Given the description of an element on the screen output the (x, y) to click on. 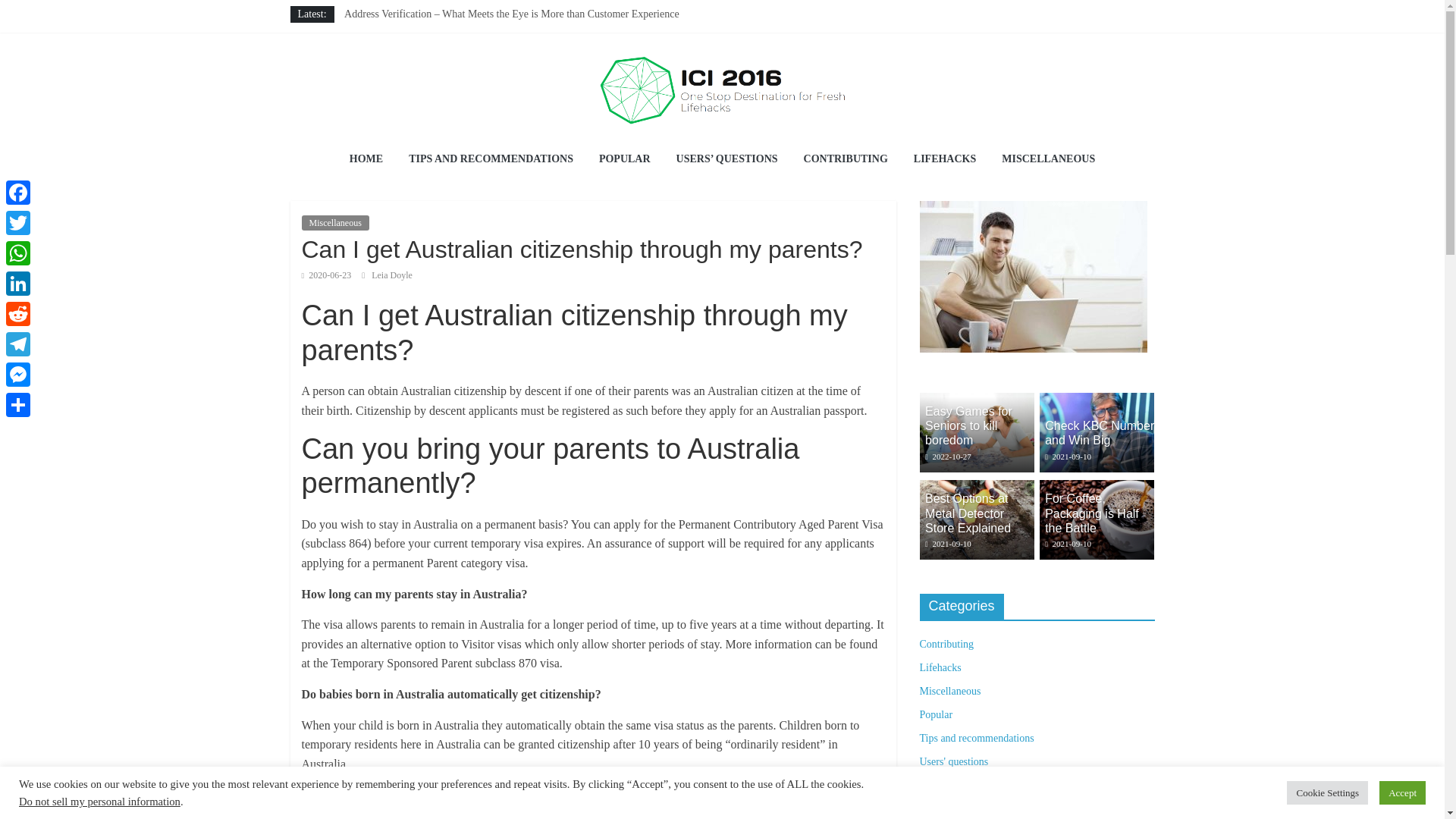
2020-06-23 (326, 275)
Easy Games for Seniors to kill boredom (975, 432)
CONTRIBUTING (845, 159)
LIFEHACKS (944, 159)
Check KBC Number and Win Big (1099, 432)
Leia Doyle (391, 275)
Easy Games for Seniors to kill boredom (429, 30)
HOME (365, 159)
Miscellaneous (335, 222)
Easy Games for Seniors to kill boredom (975, 400)
2021-09-10 (1067, 456)
Easy Games for Seniors to kill boredom (429, 30)
